Given the description of an element on the screen output the (x, y) to click on. 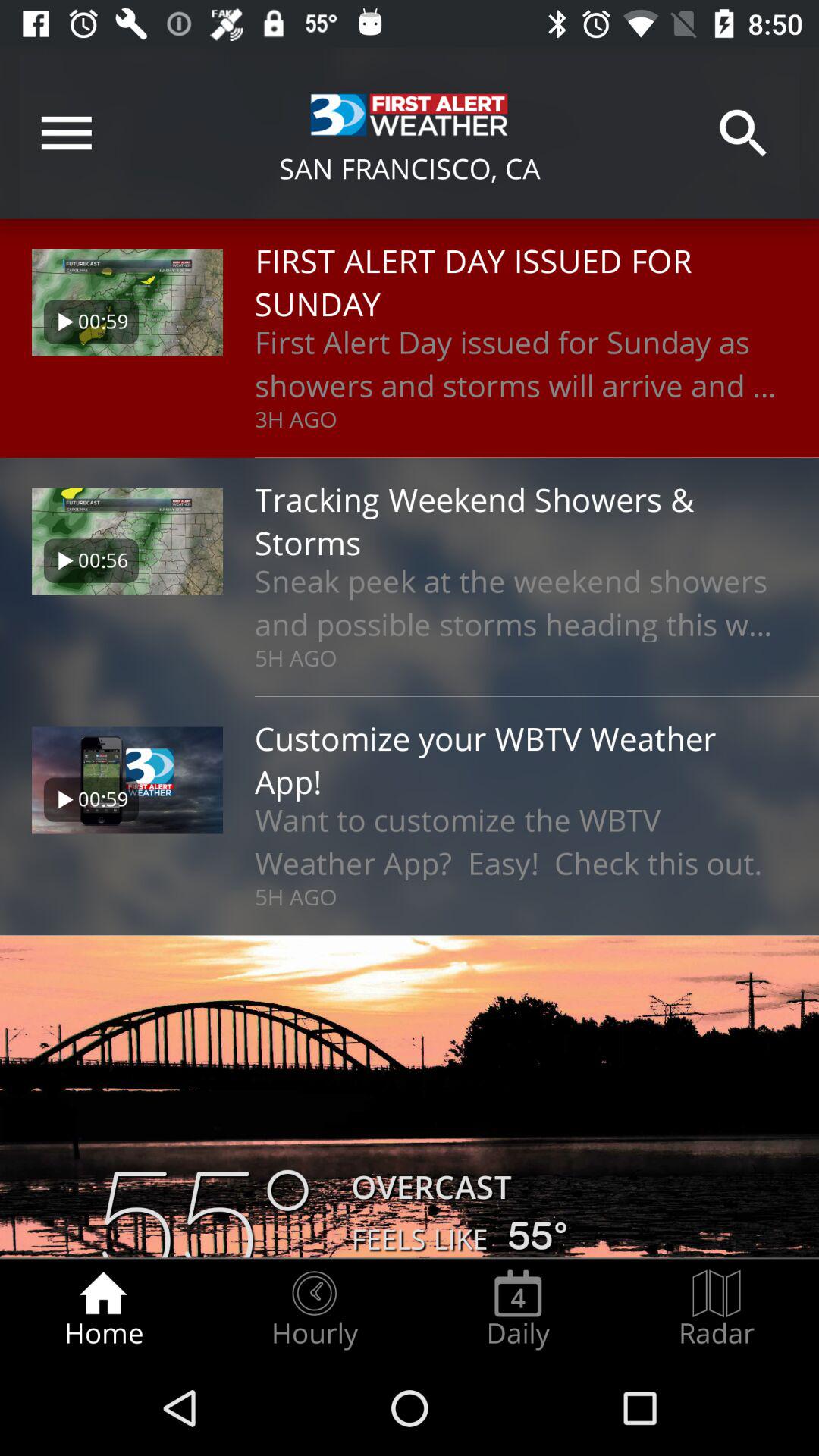
press item to the right of daily (716, 1309)
